Given the description of an element on the screen output the (x, y) to click on. 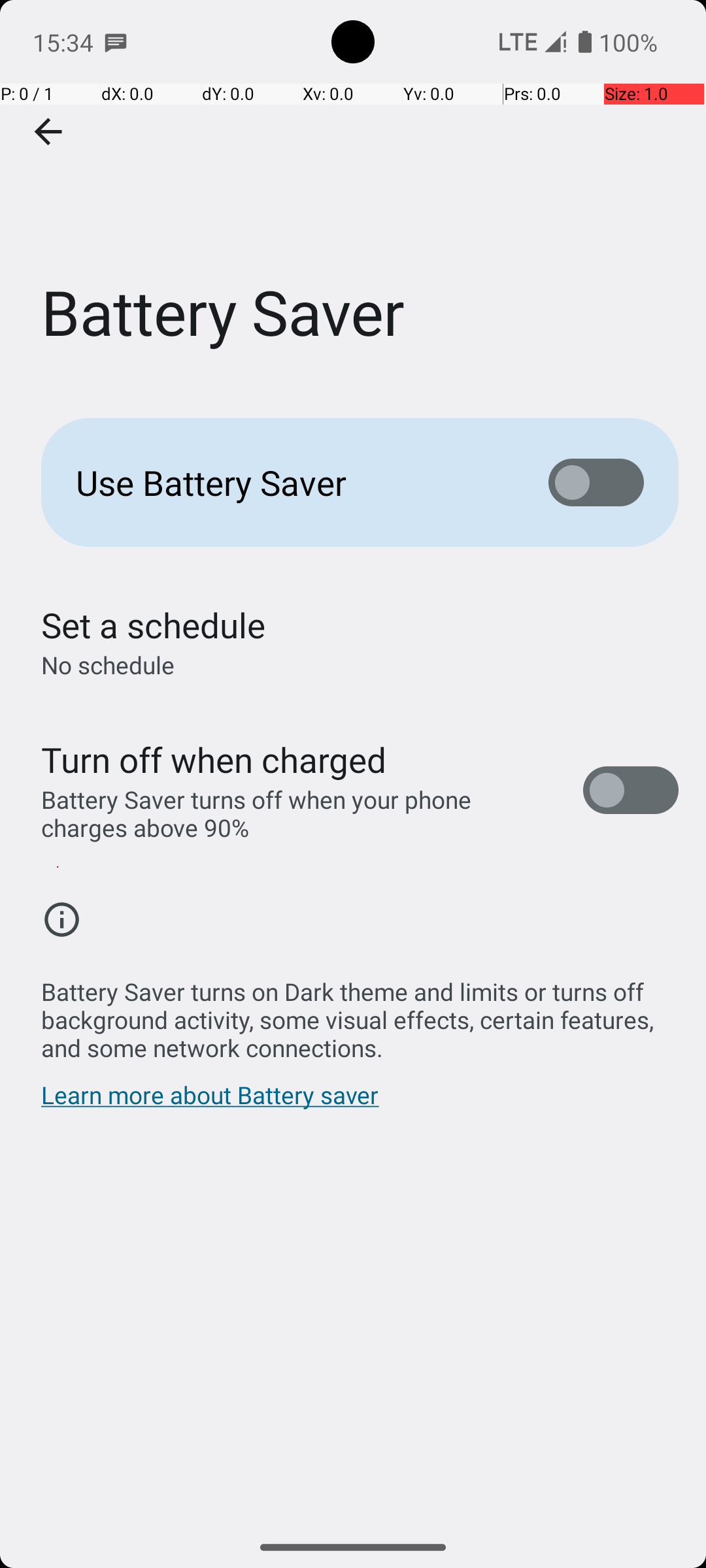
Use Battery Saver Element type: android.widget.TextView (291, 482)
Set a schedule Element type: android.widget.TextView (153, 624)
No schedule Element type: android.widget.TextView (107, 664)
Turn off when charged Element type: android.widget.TextView (213, 759)
Battery Saver turns off when your phone charges above 90% Element type: android.widget.TextView (298, 813)
Battery Saver turns on Dark theme and limits or turns off background activity, some visual effects, certain features, and some network connections. Element type: android.widget.TextView (359, 1012)
Learn more about Battery saver Element type: android.widget.TextView (210, 1101)
SMS Messenger notification: Juan Alves Element type: android.widget.ImageView (115, 41)
